Given the description of an element on the screen output the (x, y) to click on. 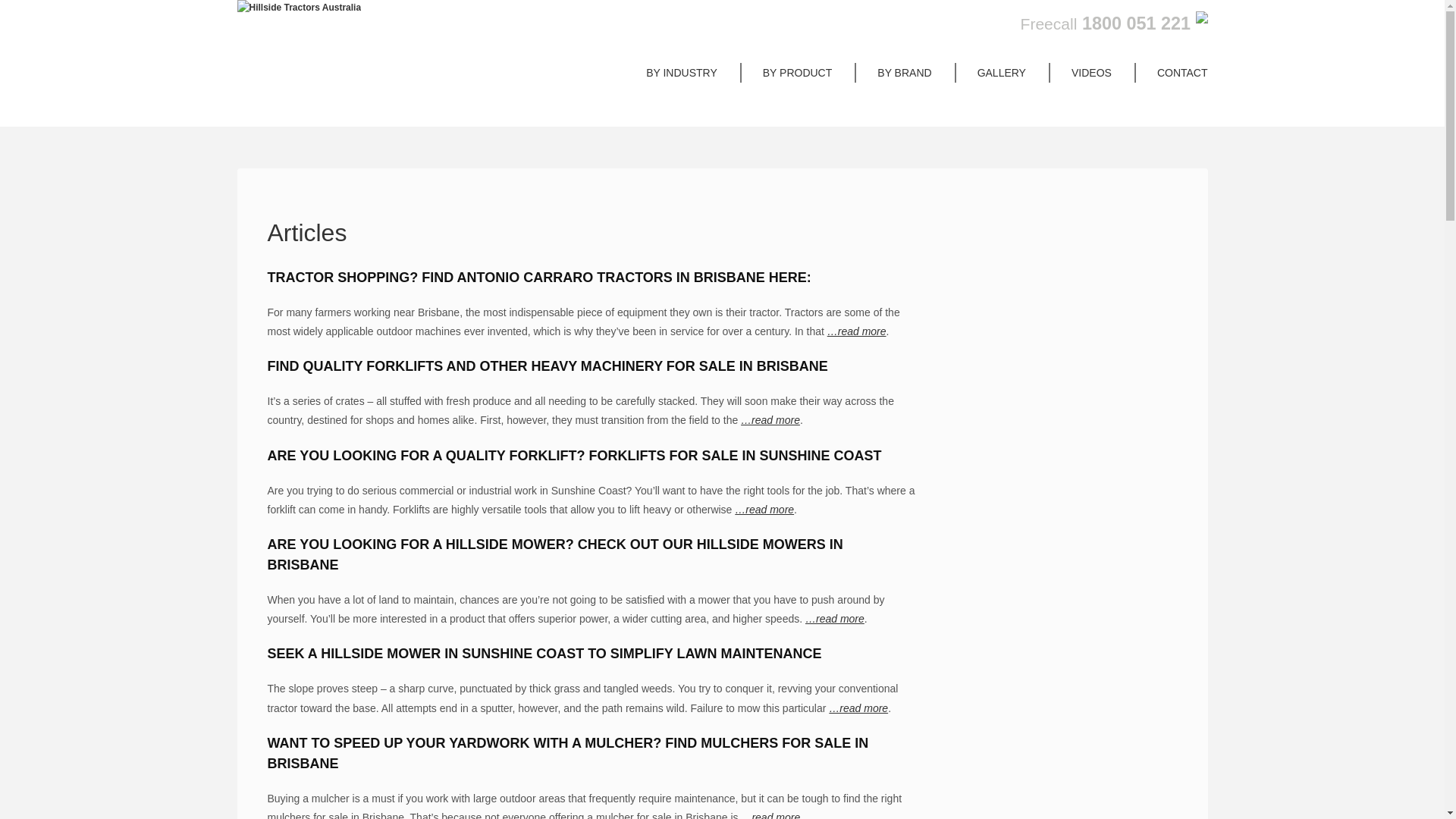
BY BRAND (903, 72)
BY INDUSTRY (681, 72)
BY PRODUCT (797, 72)
